Given the description of an element on the screen output the (x, y) to click on. 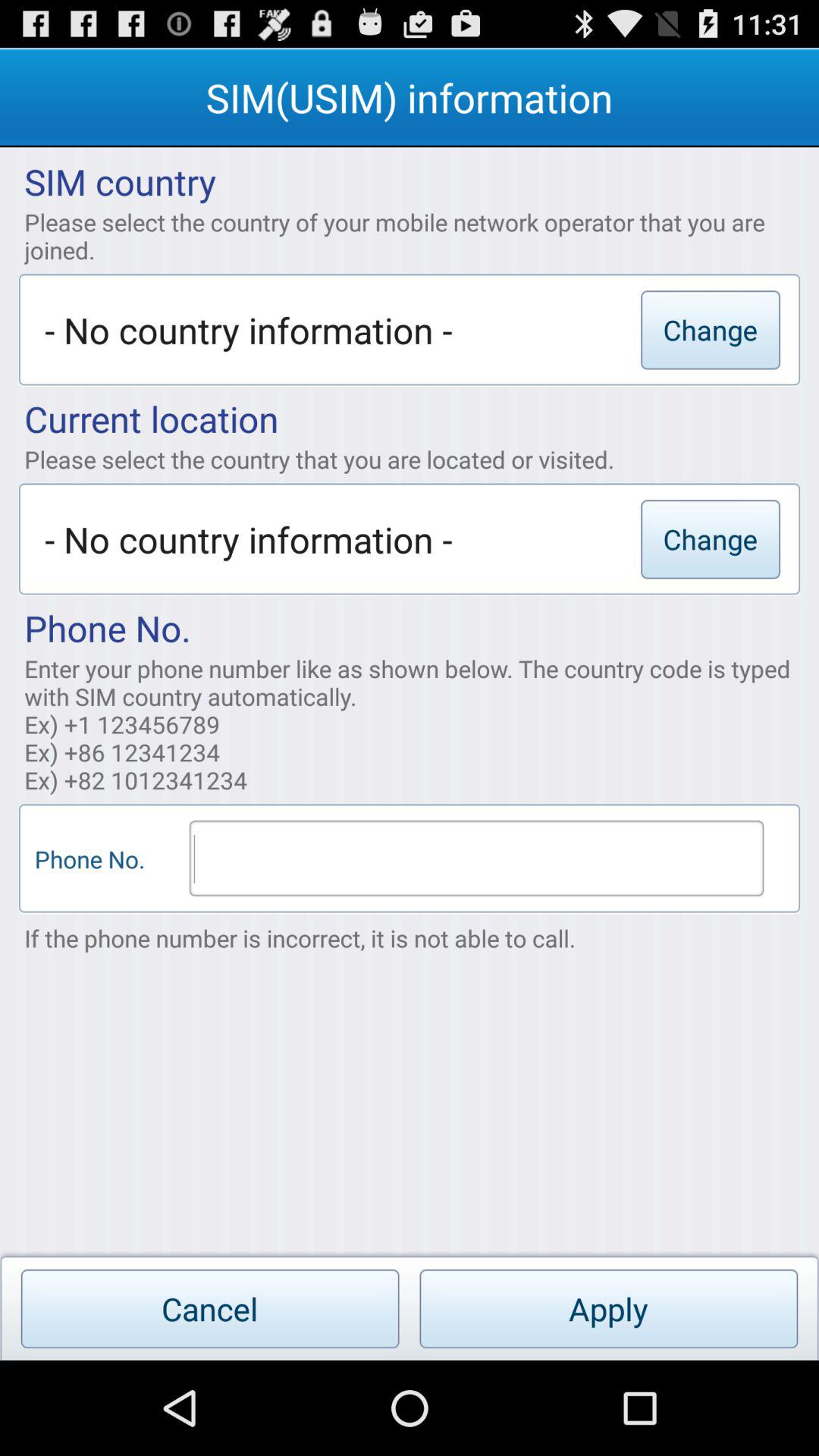
choose the cancel button (210, 1309)
